Given the description of an element on the screen output the (x, y) to click on. 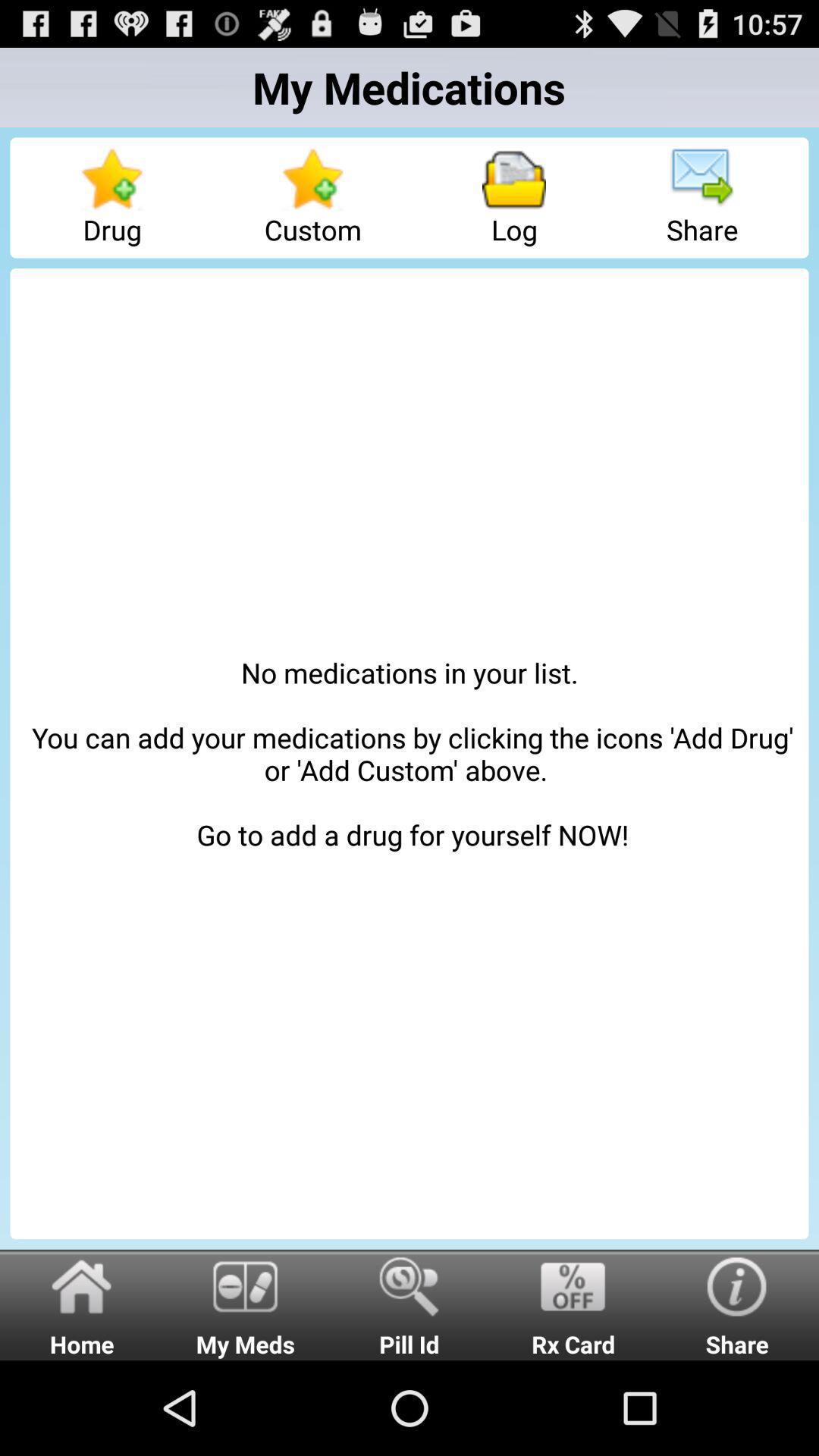
launch the radio button to the right of the home (245, 1304)
